Given the description of an element on the screen output the (x, y) to click on. 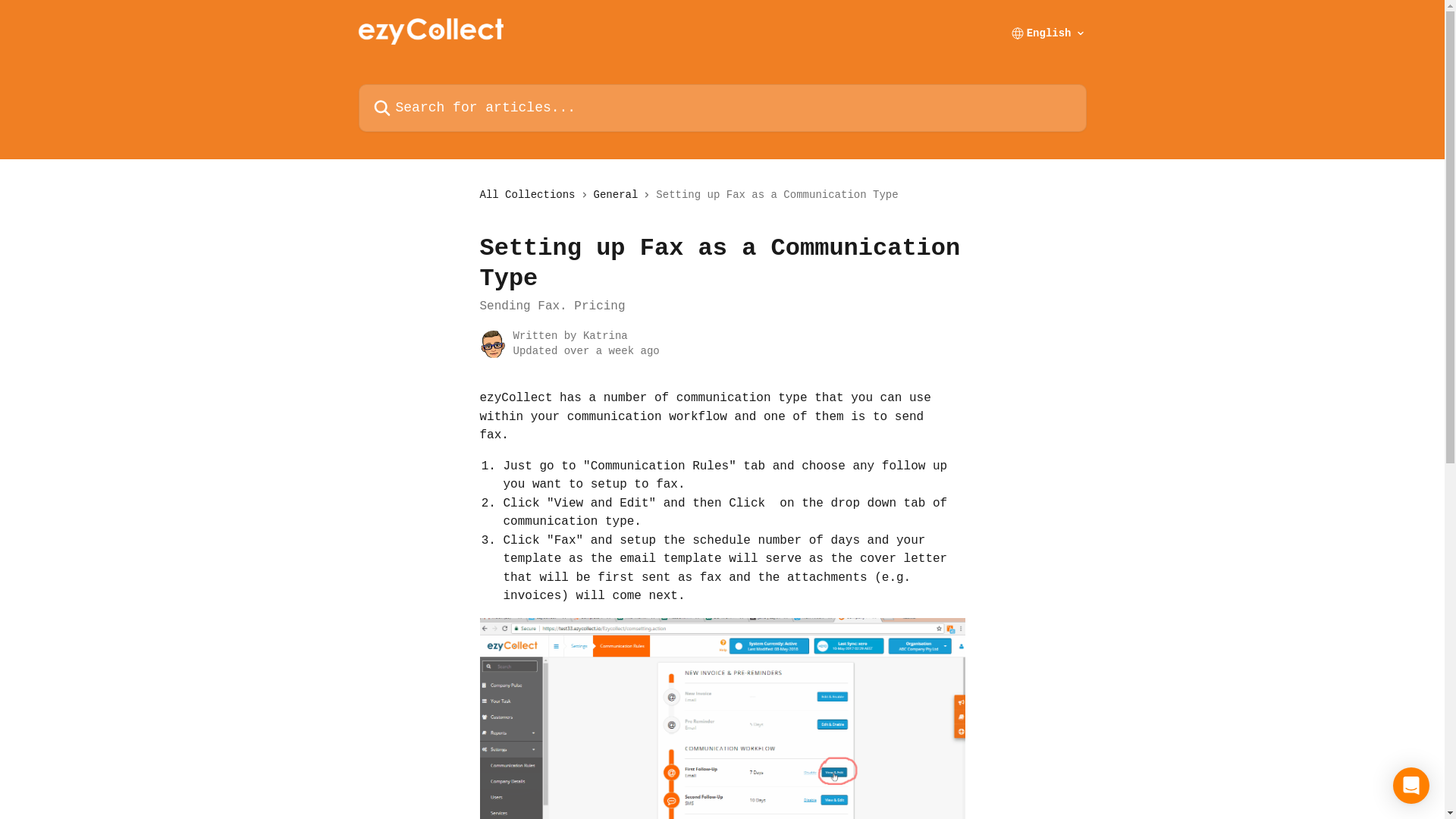
All Collections Element type: text (529, 194)
General Element type: text (618, 194)
